Given the description of an element on the screen output the (x, y) to click on. 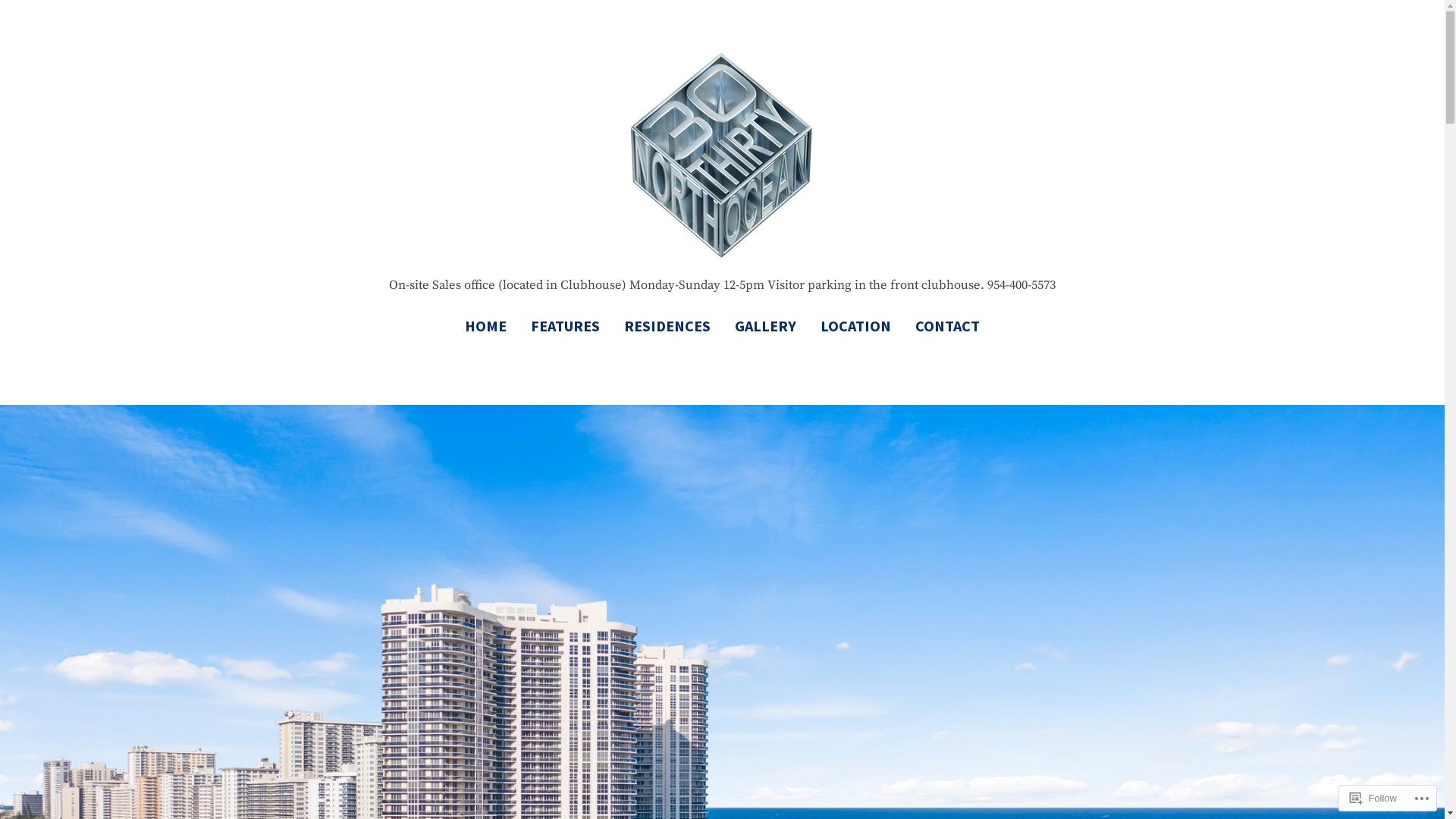
HOME Element type: text (491, 326)
GALLERY Element type: text (765, 326)
LOCATION Element type: text (855, 326)
FEATURES Element type: text (564, 326)
CONTACT Element type: text (941, 326)
RESIDENCES Element type: text (666, 326)
Follow Element type: text (1372, 797)
